Given the description of an element on the screen output the (x, y) to click on. 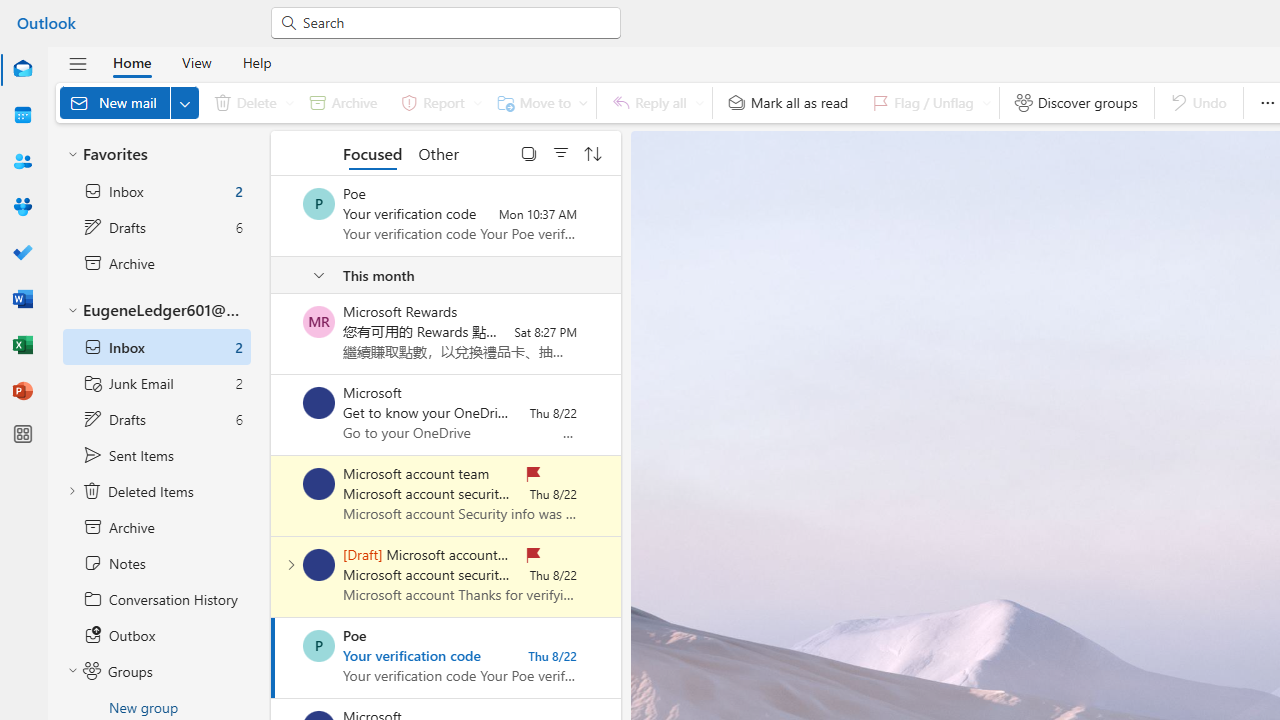
Hide navigation pane (77, 63)
More apps (22, 434)
Microsoft account team (319, 564)
Poe (319, 645)
Select (529, 152)
Excel (22, 345)
Sorted: By Date (593, 152)
Microsoft Rewards (319, 321)
Expand conversation (291, 564)
Delete (250, 102)
Undo (1198, 102)
Groups (22, 206)
